Given the description of an element on the screen output the (x, y) to click on. 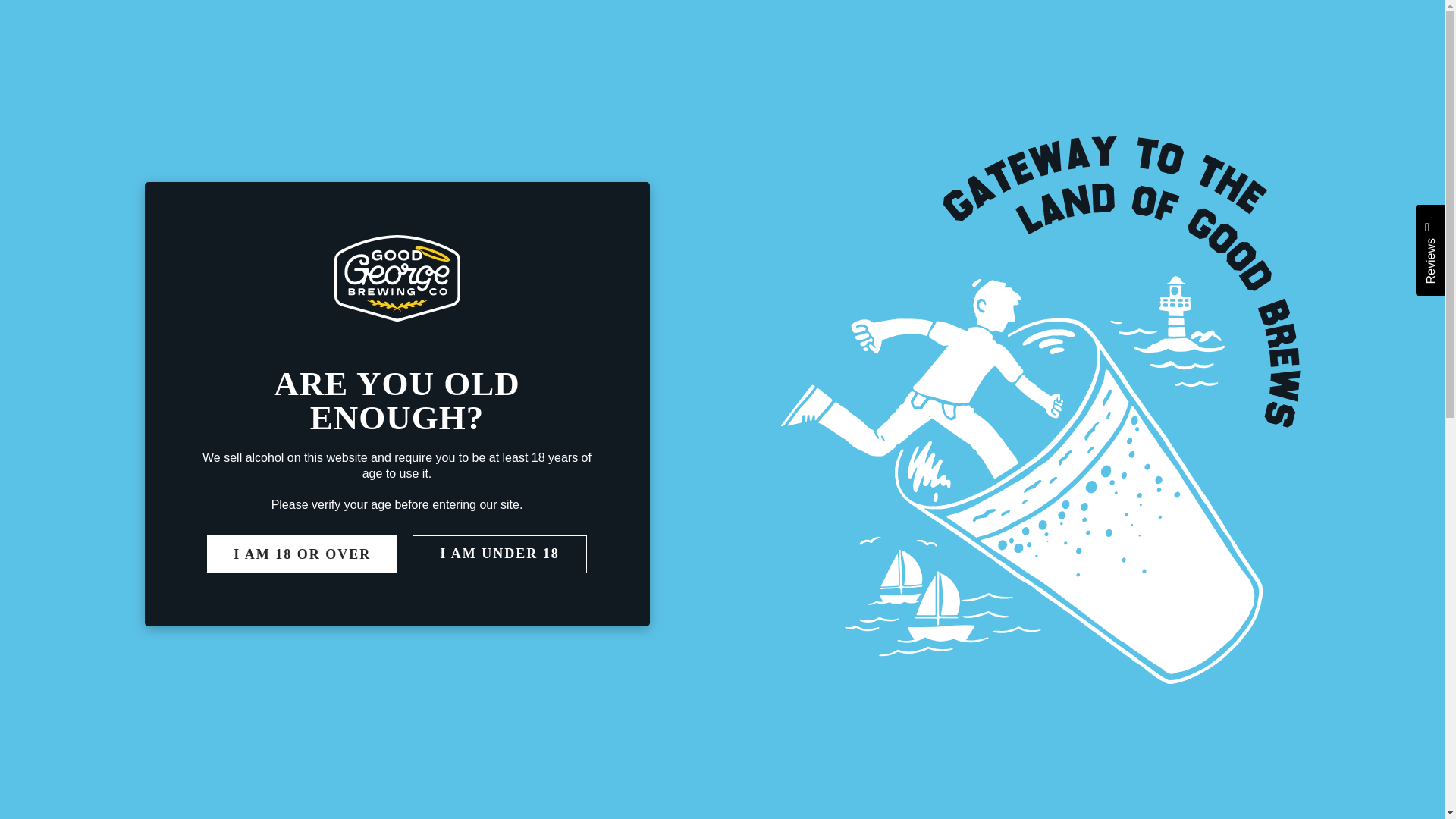
I AM 18 OR OVER (301, 554)
I AM UNDER 18 (499, 554)
Good George Whisky (760, 156)
Shop Now (269, 156)
0 (619, 156)
Good George Brewing (1290, 69)
Merch (721, 68)
Home (524, 156)
Venues (161, 205)
Subscriptions (1182, 156)
Bundles (366, 156)
